Given the description of an element on the screen output the (x, y) to click on. 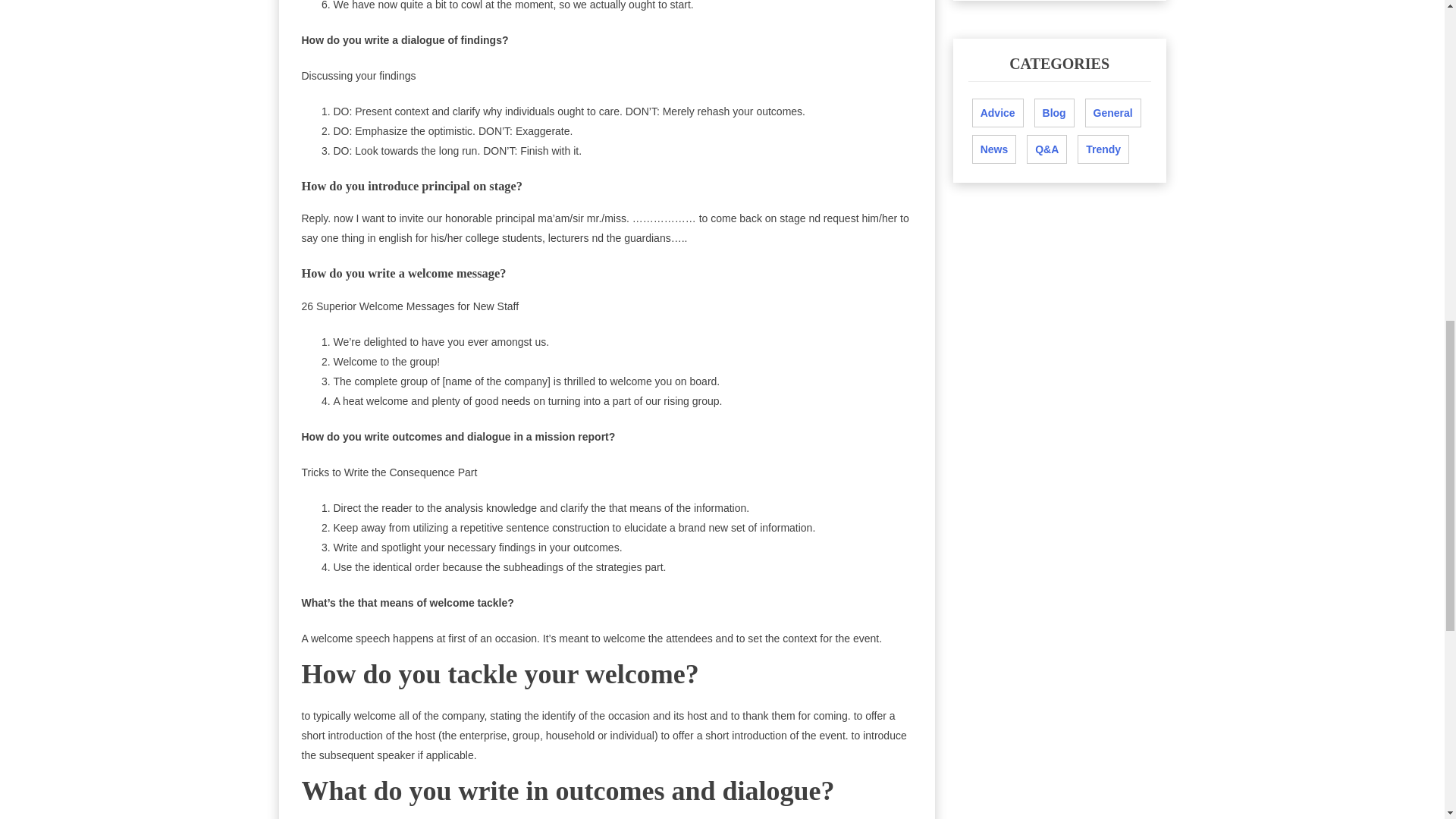
Trendy (1103, 149)
Blog (1053, 112)
General (1112, 112)
News (994, 149)
Advice (997, 112)
